Given the description of an element on the screen output the (x, y) to click on. 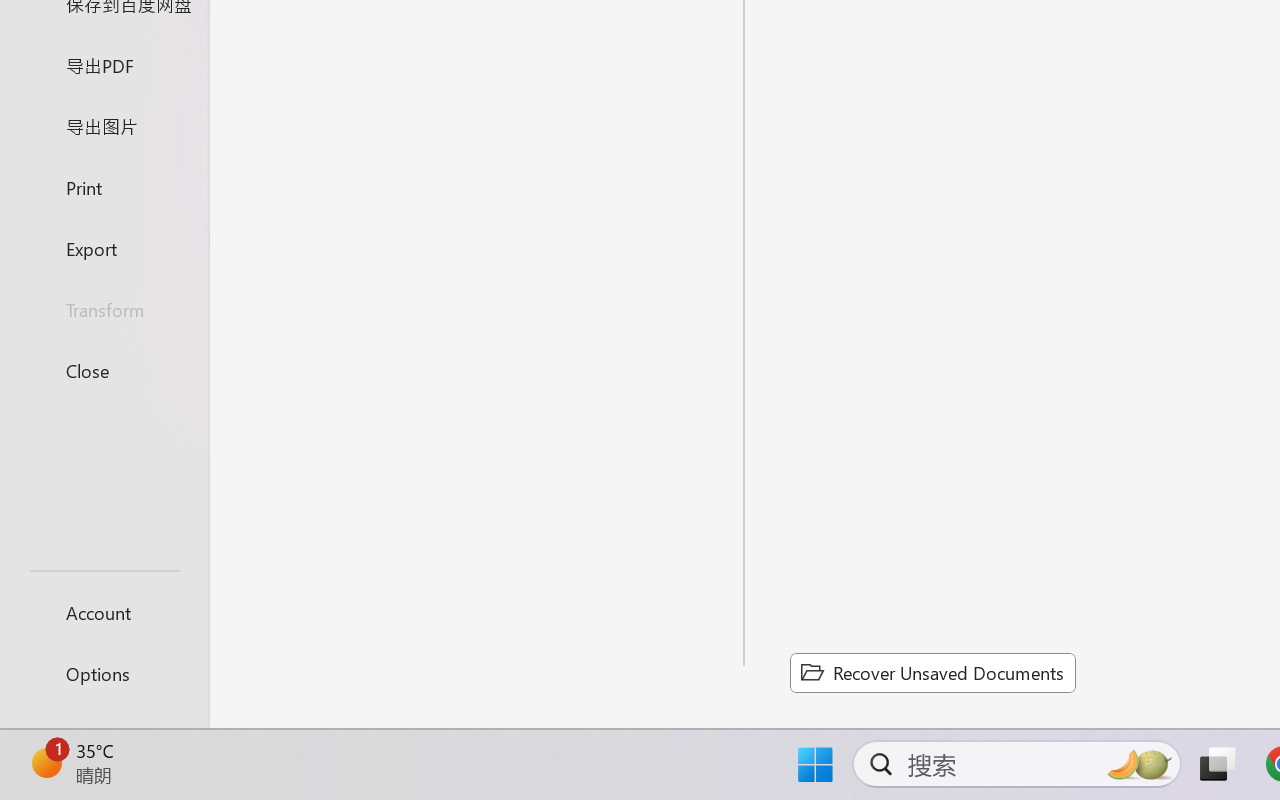
Print (104, 186)
Options (104, 673)
Recover Unsaved Documents (932, 672)
Account (104, 612)
Transform (104, 309)
Export (104, 248)
